Given the description of an element on the screen output the (x, y) to click on. 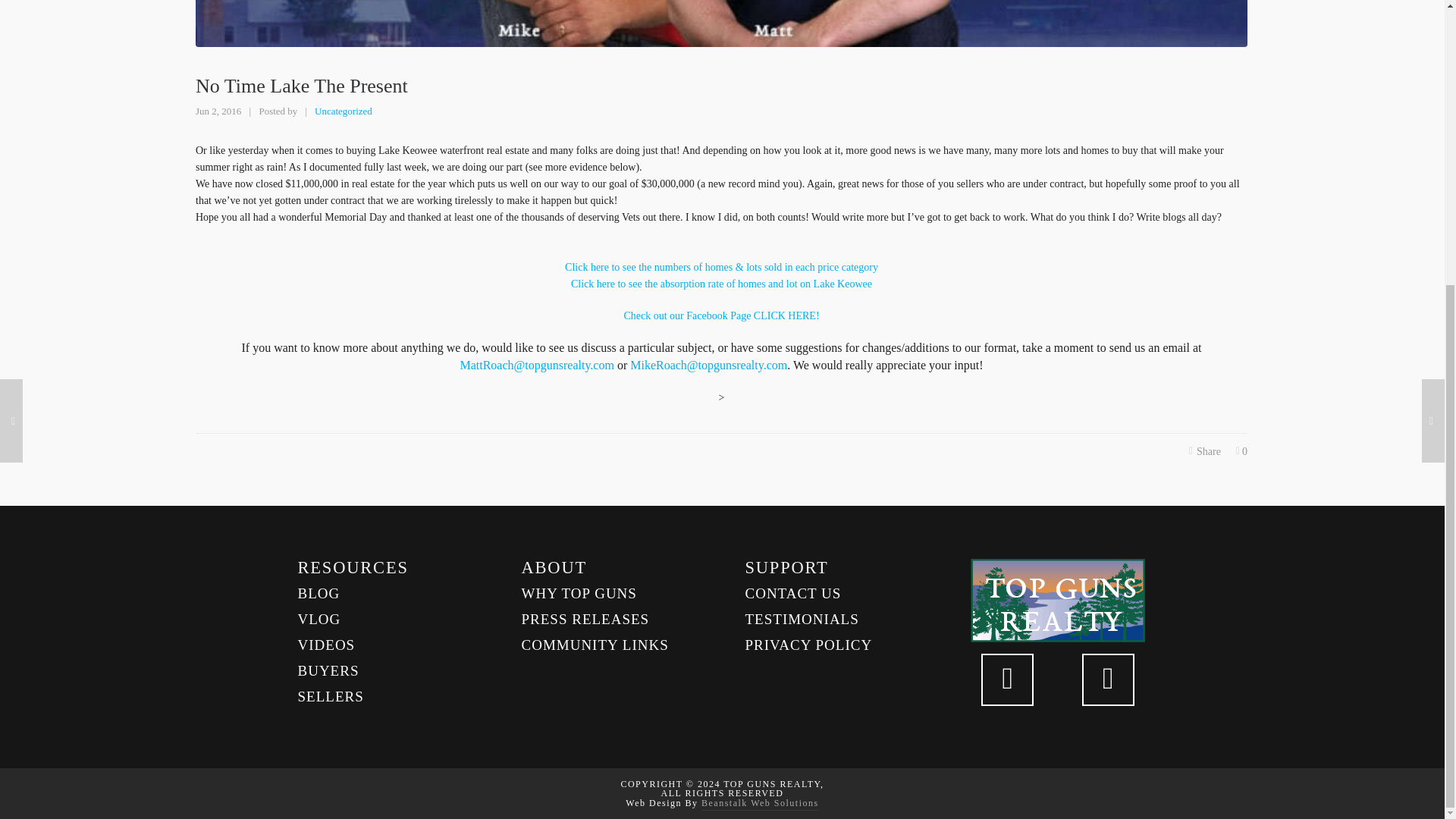
Lake Keowee Waterfront Real Estate Numbe (720, 266)
View all posts in Uncategorized (343, 111)
Lake Keowee Real Estate Numbers Roach (721, 283)
No Time Lake The Present (721, 23)
Lake Keowee Real Estate Reserve (720, 315)
